Given the description of an element on the screen output the (x, y) to click on. 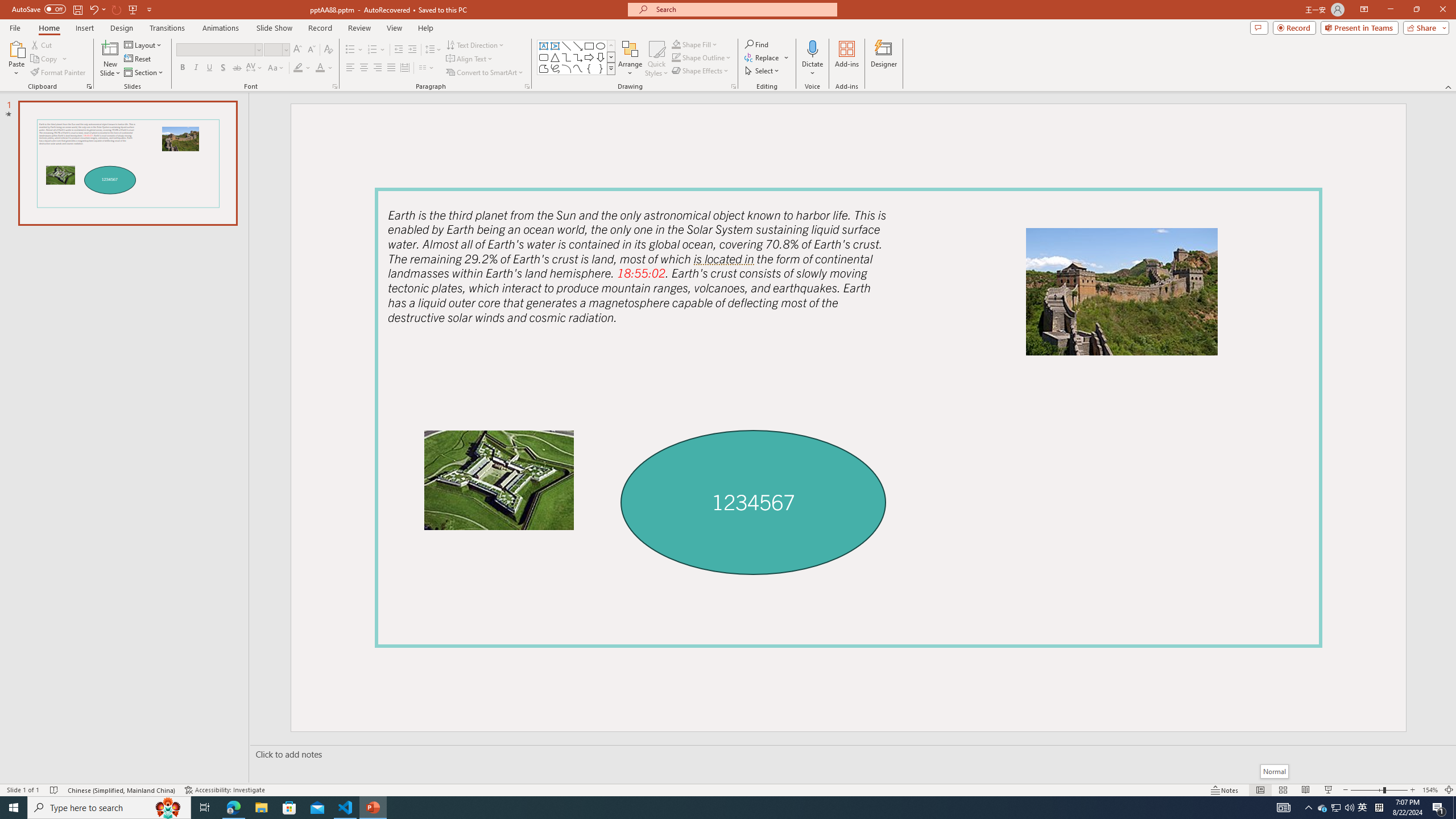
Font... (334, 85)
Line Spacing (433, 49)
Vertical Text Box (554, 45)
Left Brace (589, 68)
Distributed (404, 67)
AutomationID: ShapesInsertGallery (576, 57)
